Given the description of an element on the screen output the (x, y) to click on. 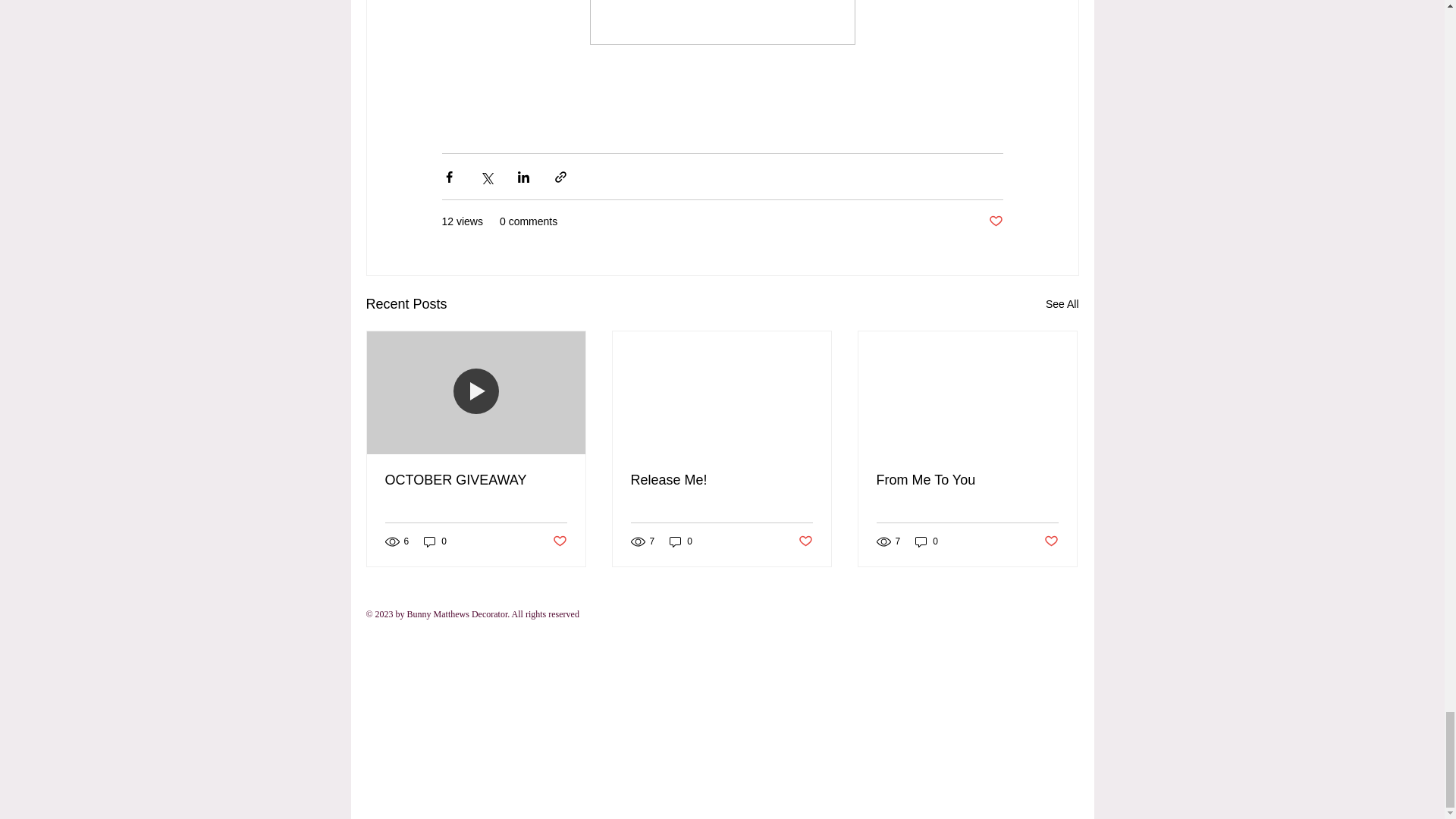
From Me To You (967, 480)
See All (1061, 304)
Post not marked as liked (995, 221)
OCTOBER GIVEAWAY (476, 480)
0 (681, 541)
Release Me! (721, 480)
Post not marked as liked (1050, 541)
Post not marked as liked (558, 541)
Post not marked as liked (804, 541)
0 (435, 541)
0 (926, 541)
